Given the description of an element on the screen output the (x, y) to click on. 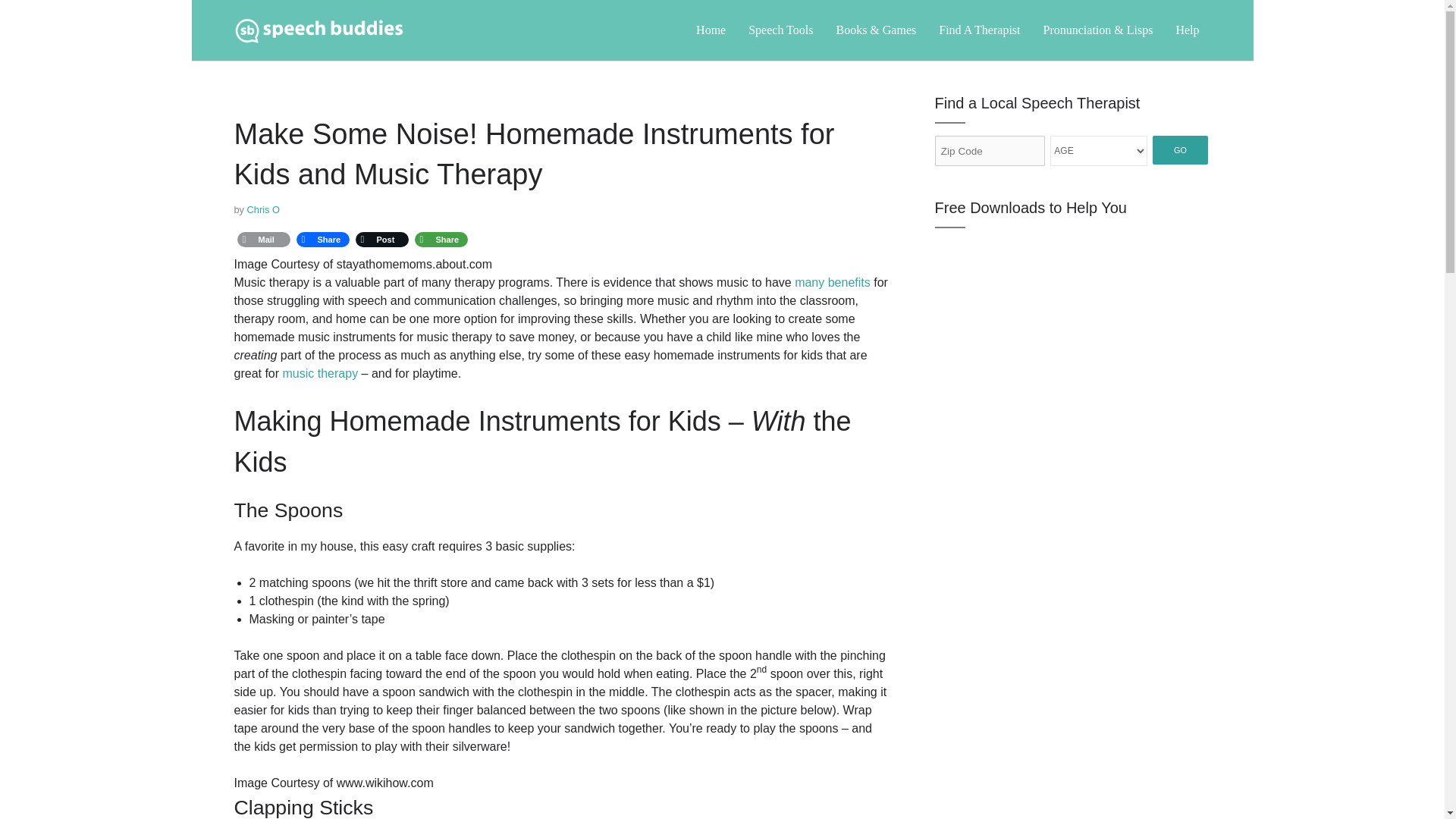
Home (710, 30)
Chris O (263, 209)
Speech Tools (780, 30)
View all posts by Chris O (263, 209)
Facebook (322, 239)
Email This (262, 239)
many benefits (832, 282)
Find A Therapist (979, 30)
music therapy (320, 373)
More Options (440, 239)
